Given the description of an element on the screen output the (x, y) to click on. 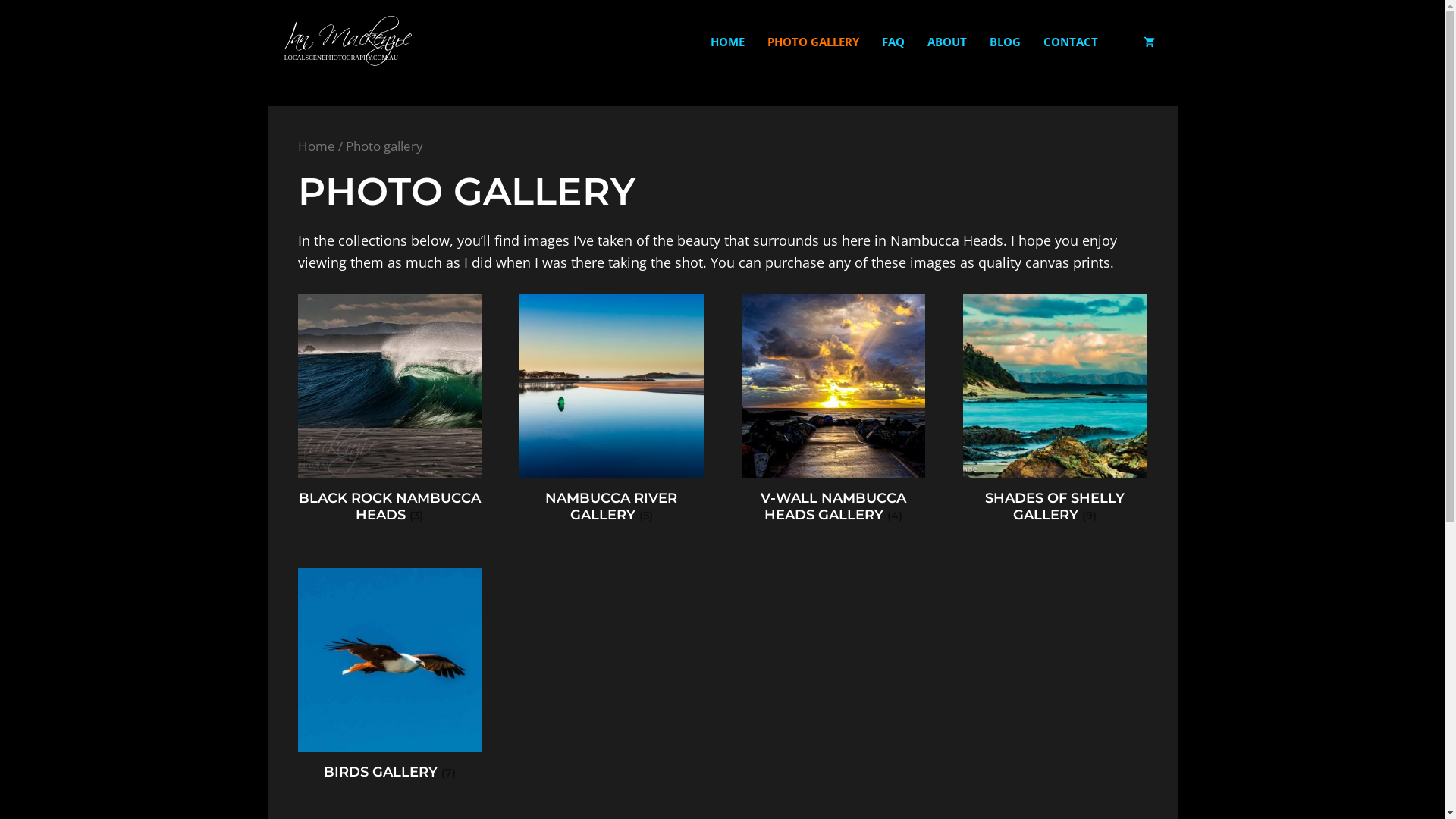
CONTACT Element type: text (1069, 41)
NAMBUCCA RIVER GALLERY (5) Element type: text (611, 412)
FAQ Element type: text (893, 41)
Home Element type: text (315, 145)
View your shopping cart Element type: hover (1148, 41)
ABOUT Element type: text (947, 41)
SHADES OF SHELLY GALLERY (9) Element type: text (1055, 412)
BLACK ROCK NAMBUCCA HEADS (3) Element type: text (389, 412)
PHOTO GALLERY Element type: text (812, 41)
BIRDS GALLERY (7) Element type: text (389, 677)
BLOG Element type: text (1005, 41)
HOME Element type: text (727, 41)
V-WALL NAMBUCCA HEADS GALLERY (4) Element type: text (833, 412)
